Given the description of an element on the screen output the (x, y) to click on. 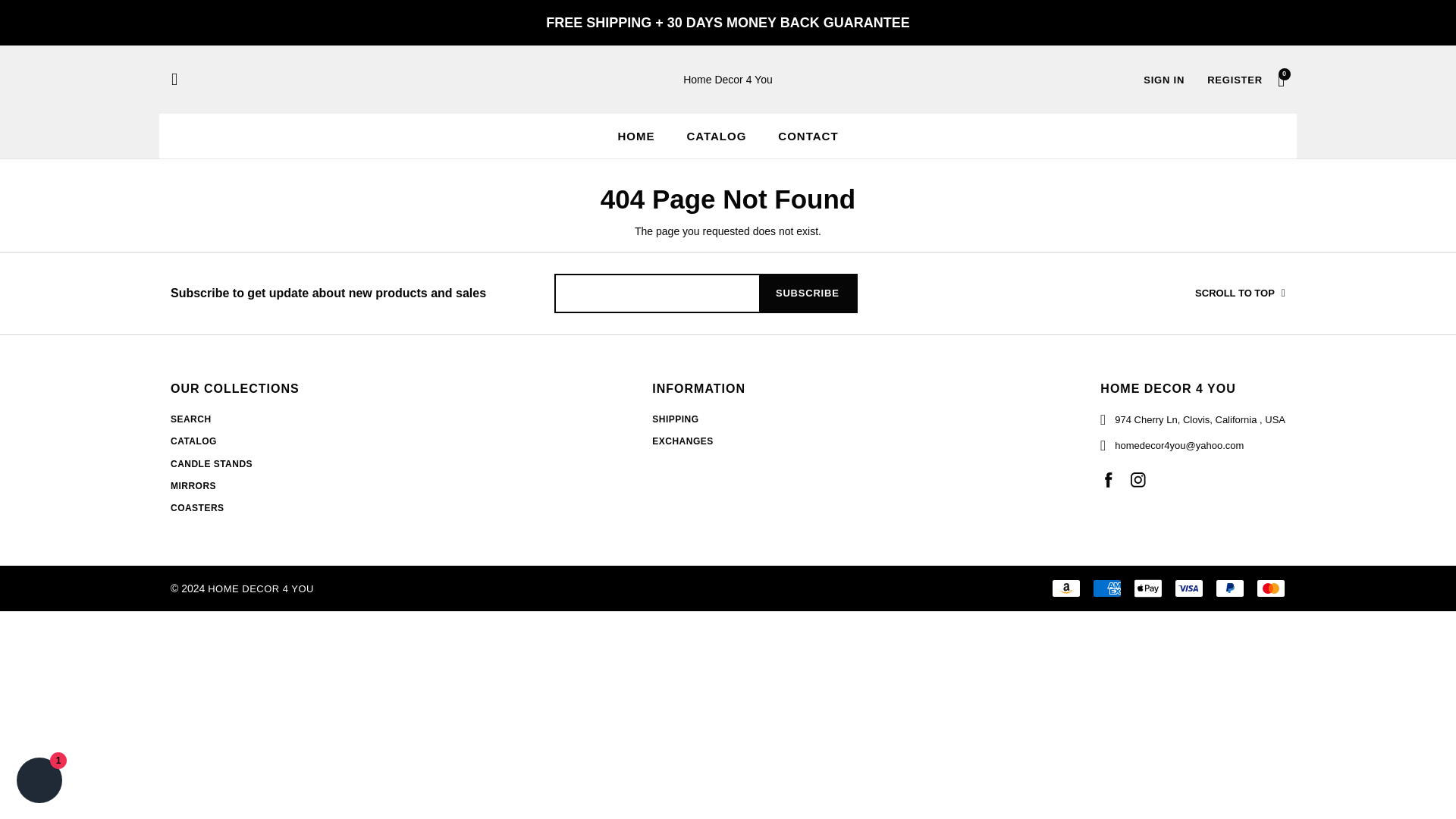
CANDLE STANDS (210, 463)
Home Decor 4 You (727, 79)
SEARCH (190, 419)
SHIPPING (675, 419)
SIGN IN (1163, 79)
COASTERS (197, 507)
SCROLL TO TOP (1192, 293)
SUBSCRIBE (807, 293)
MIRRORS (192, 485)
CATALOG (193, 440)
EXCHANGES (682, 440)
HOME (635, 135)
0 (1281, 78)
REGISTER (1234, 79)
CONTACT (807, 135)
